Given the description of an element on the screen output the (x, y) to click on. 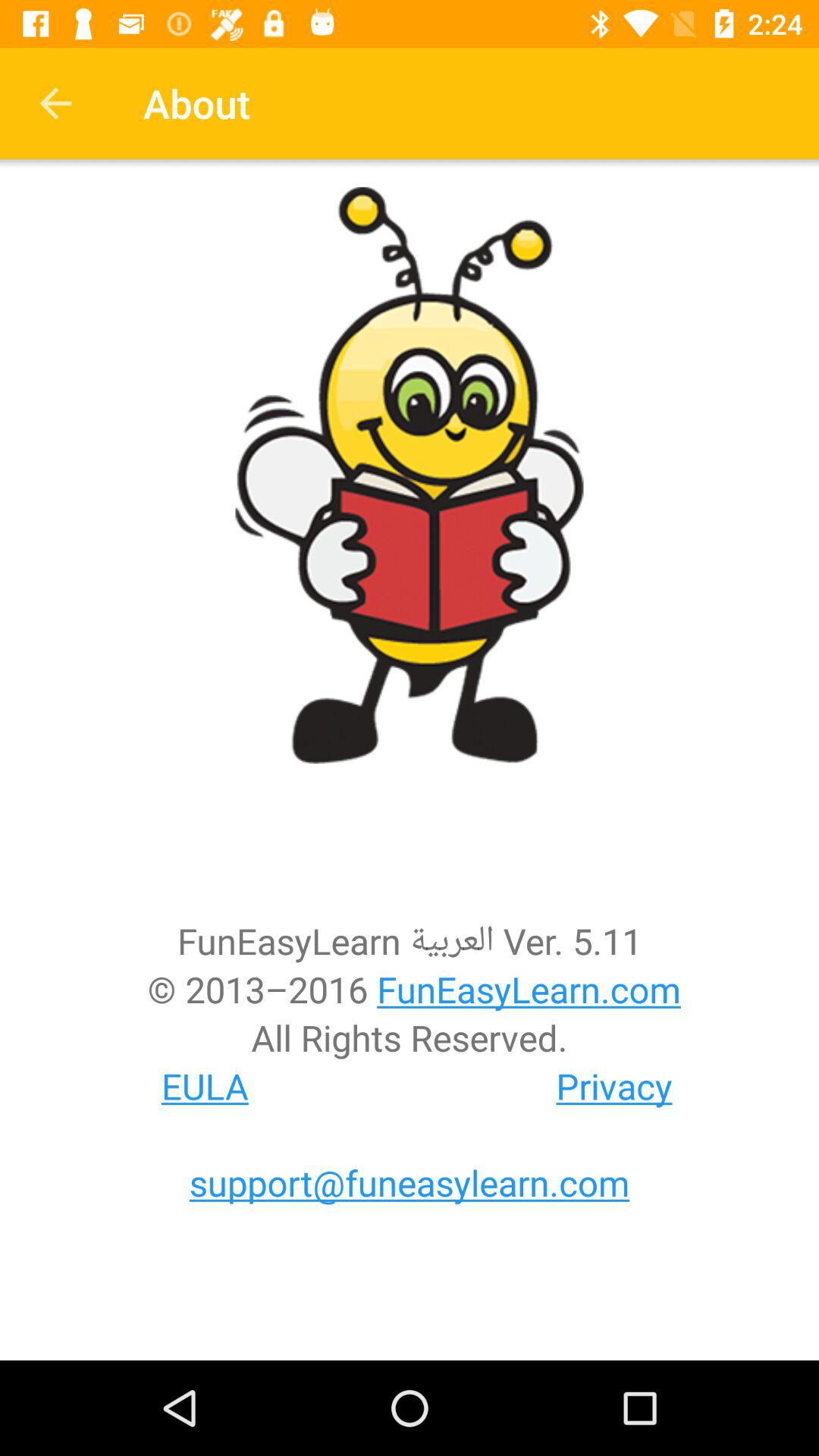
turn on icon below the all rights reserved. (614, 1085)
